Given the description of an element on the screen output the (x, y) to click on. 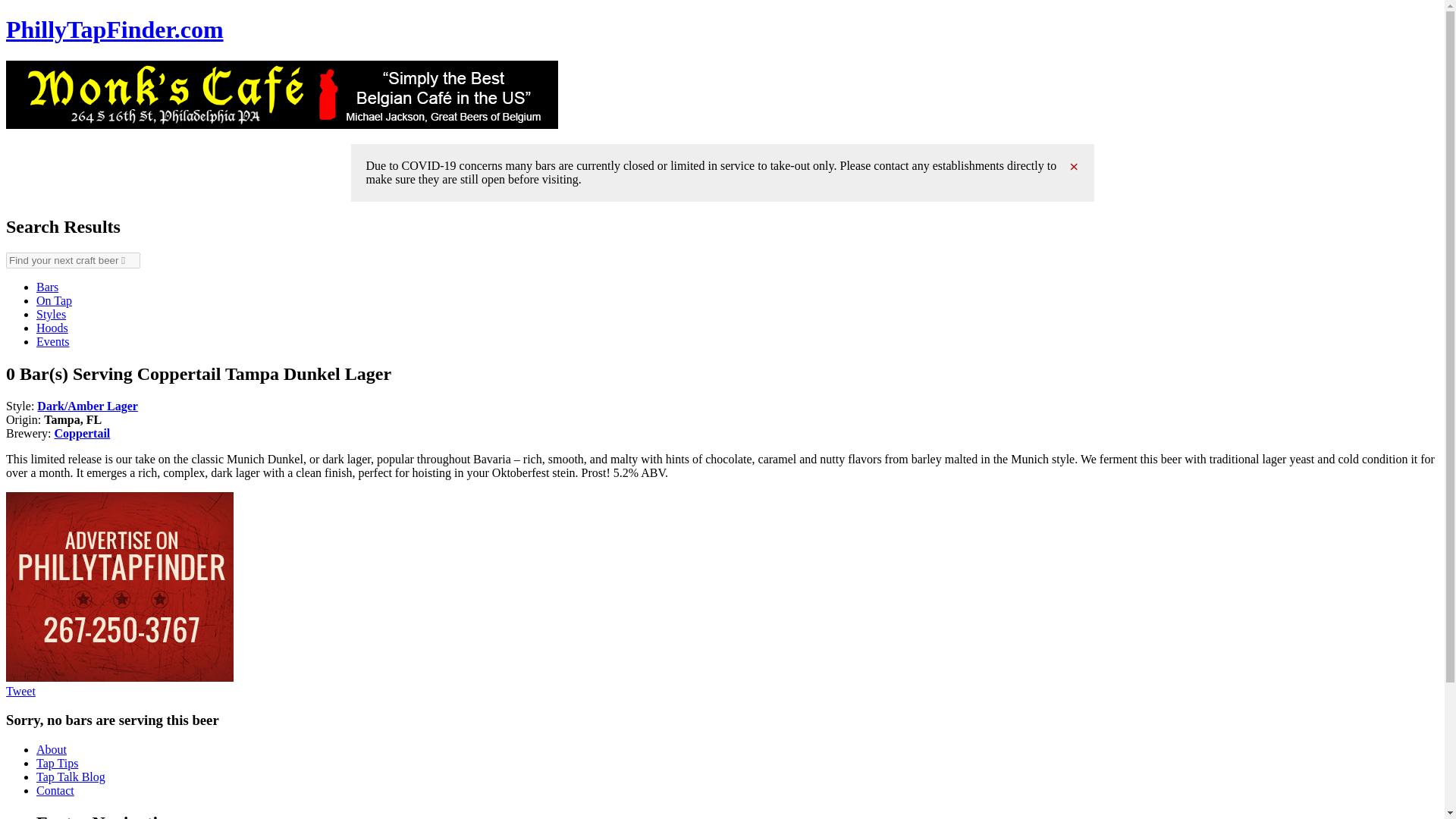
About (51, 748)
Tap Talk Blog (70, 776)
Contact (55, 789)
Tap Tips (57, 762)
Tweet (19, 689)
Coppertail (82, 431)
Tap Tips (57, 762)
PhillyTapFinder.com (114, 29)
PhillyTapFinder.com (114, 29)
Contact (55, 789)
